Given the description of an element on the screen output the (x, y) to click on. 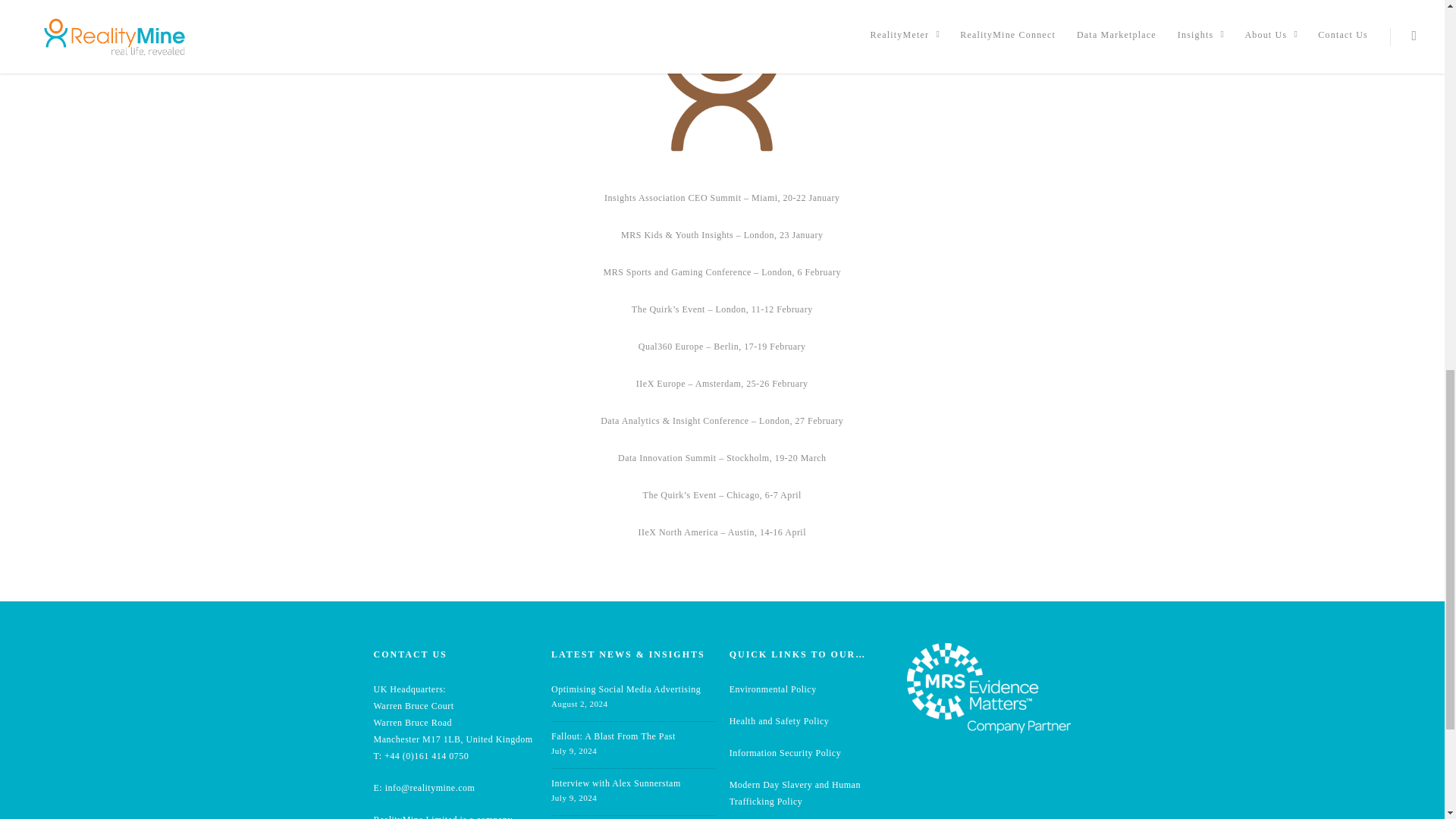
Environmental Policy (772, 688)
Optimising Social Media Advertising (625, 688)
Interview with Alex Sunnerstam (616, 783)
Fallout: A Blast From The Past (613, 736)
